Given the description of an element on the screen output the (x, y) to click on. 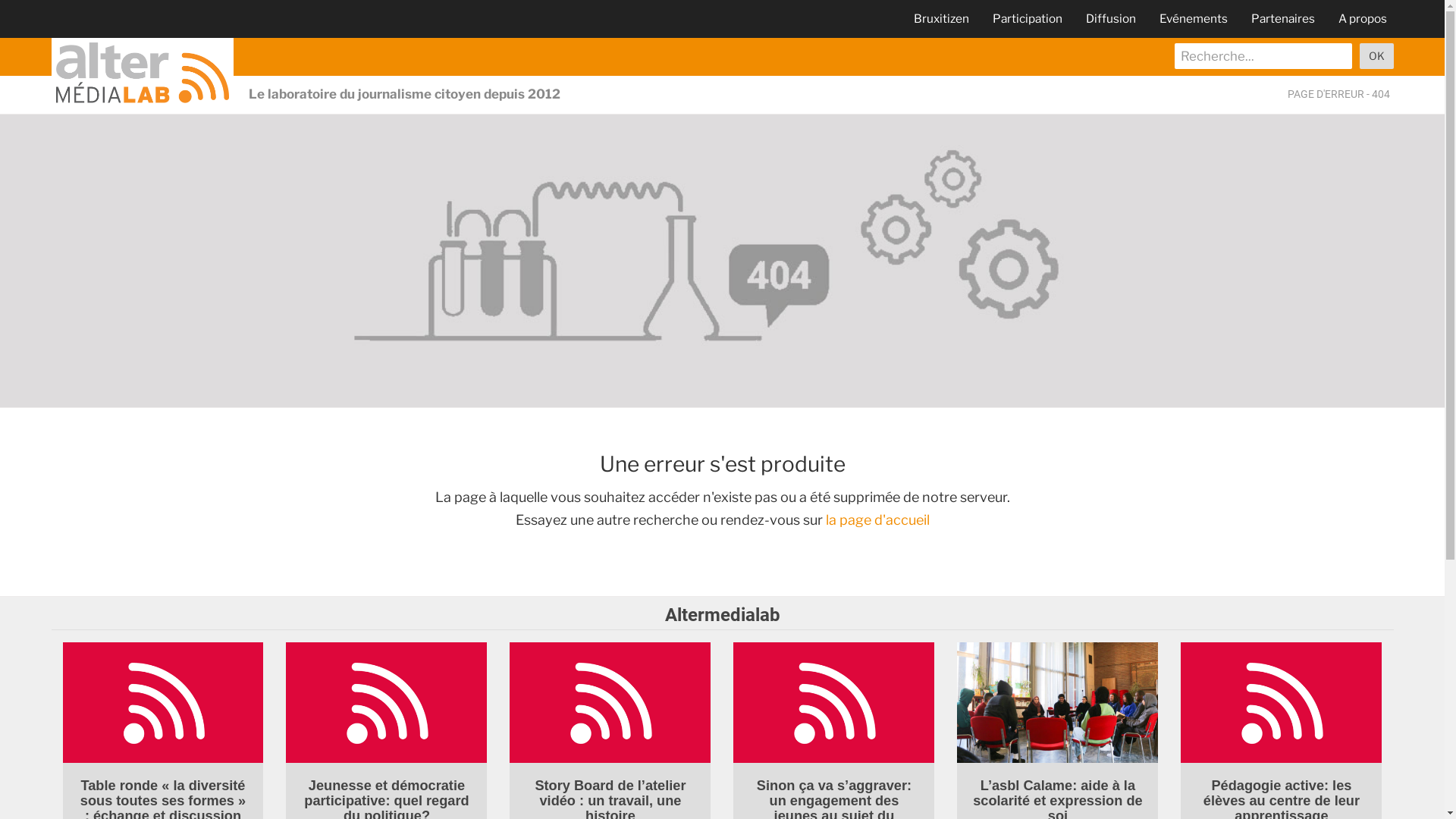
Diffusion Element type: text (1110, 18)
Participation Element type: text (1026, 18)
Bruxitizen Element type: text (940, 18)
OK Element type: text (1375, 56)
A propos Element type: text (1361, 18)
recherche Element type: hover (1262, 56)
ok Element type: hover (1375, 56)
Partenaires Element type: text (1282, 18)
